Given the description of an element on the screen output the (x, y) to click on. 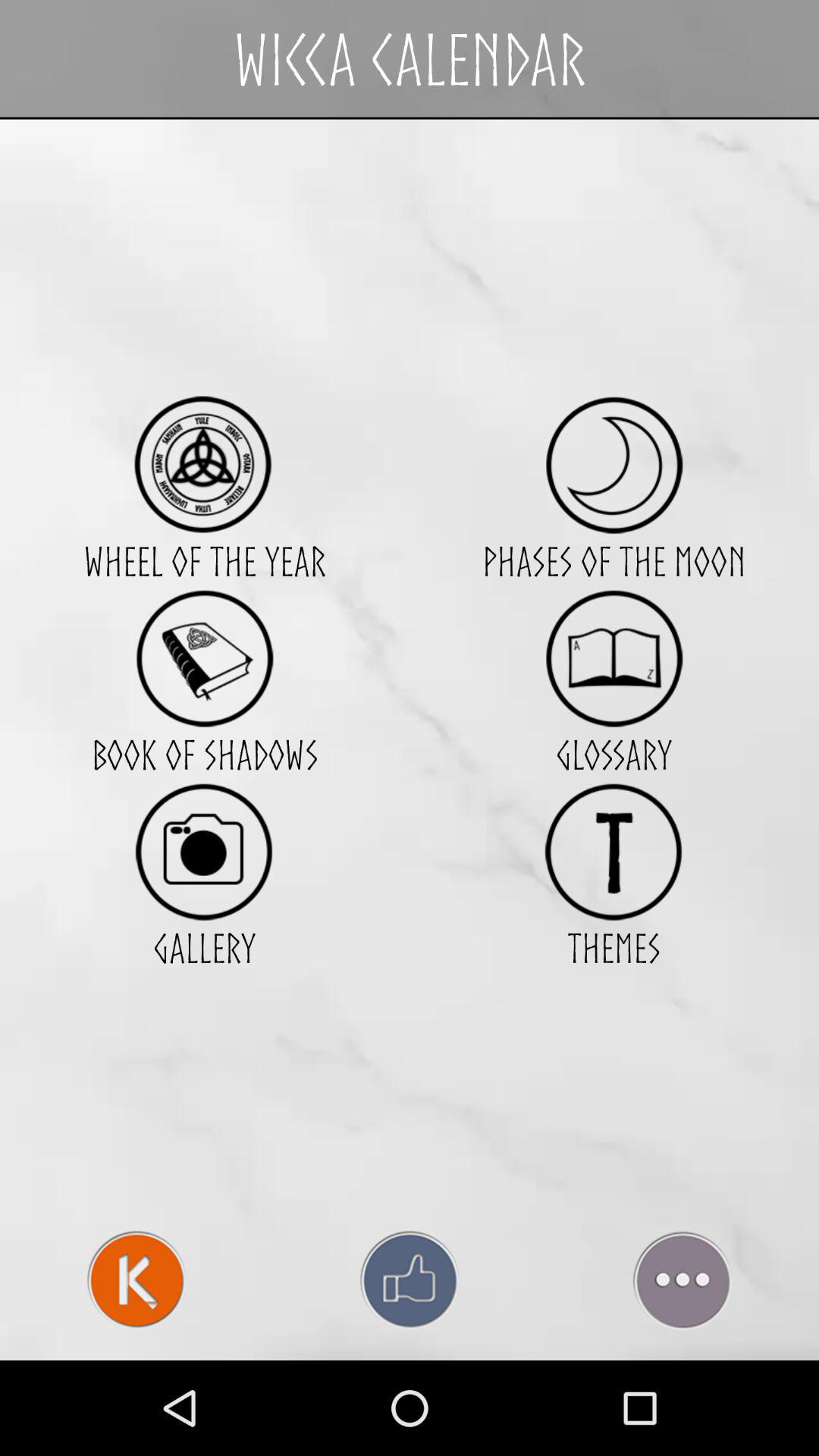
click item to the left of the glossary (204, 851)
